Given the description of an element on the screen output the (x, y) to click on. 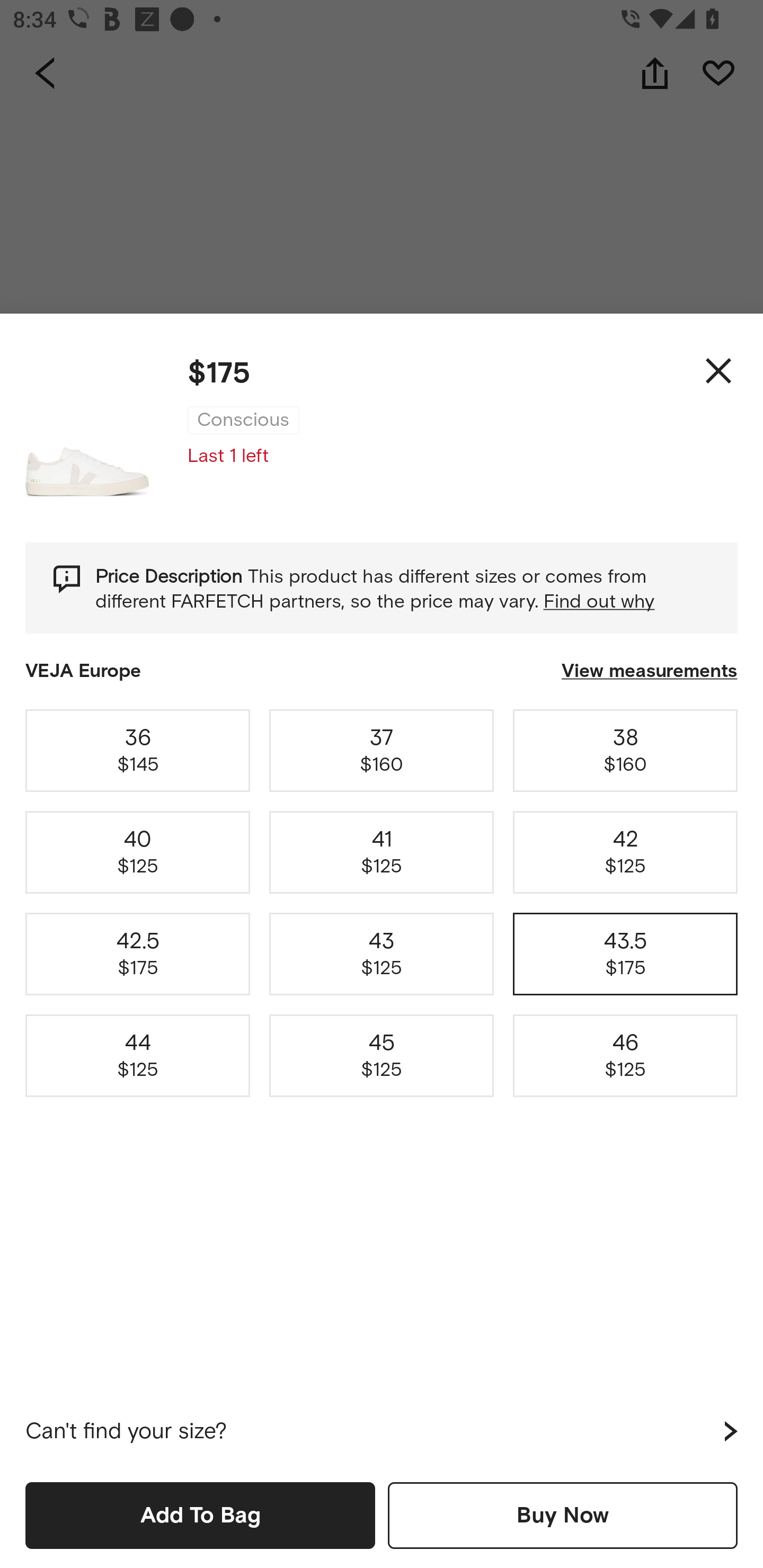
36 $145 (137, 749)
37 $160 (381, 749)
38 $160 (624, 749)
40 $125 (137, 851)
41 $125 (381, 851)
42 $125 (624, 851)
42.5 $175 (137, 953)
43 $125 (381, 953)
43.5 $175 (624, 953)
44 $125 (137, 1055)
45 $125 (381, 1055)
46 $125 (624, 1055)
Can't find your size? (381, 1431)
Add To Bag (200, 1515)
Buy Now (562, 1515)
